Given the description of an element on the screen output the (x, y) to click on. 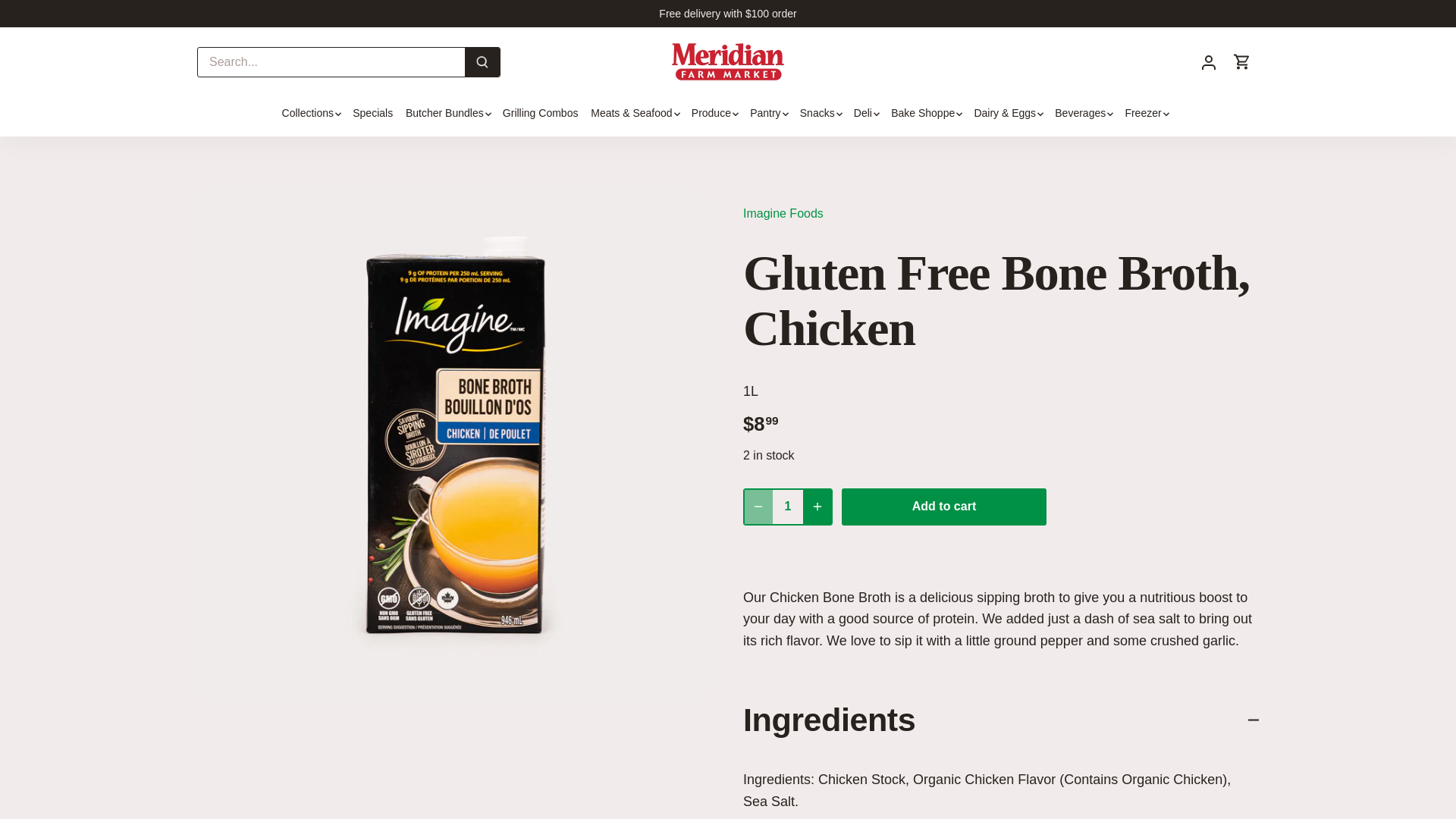
Grilling Combos (539, 113)
Butcher Bundles (444, 113)
Collections (311, 113)
Produce (710, 113)
Specials (372, 113)
